Given the description of an element on the screen output the (x, y) to click on. 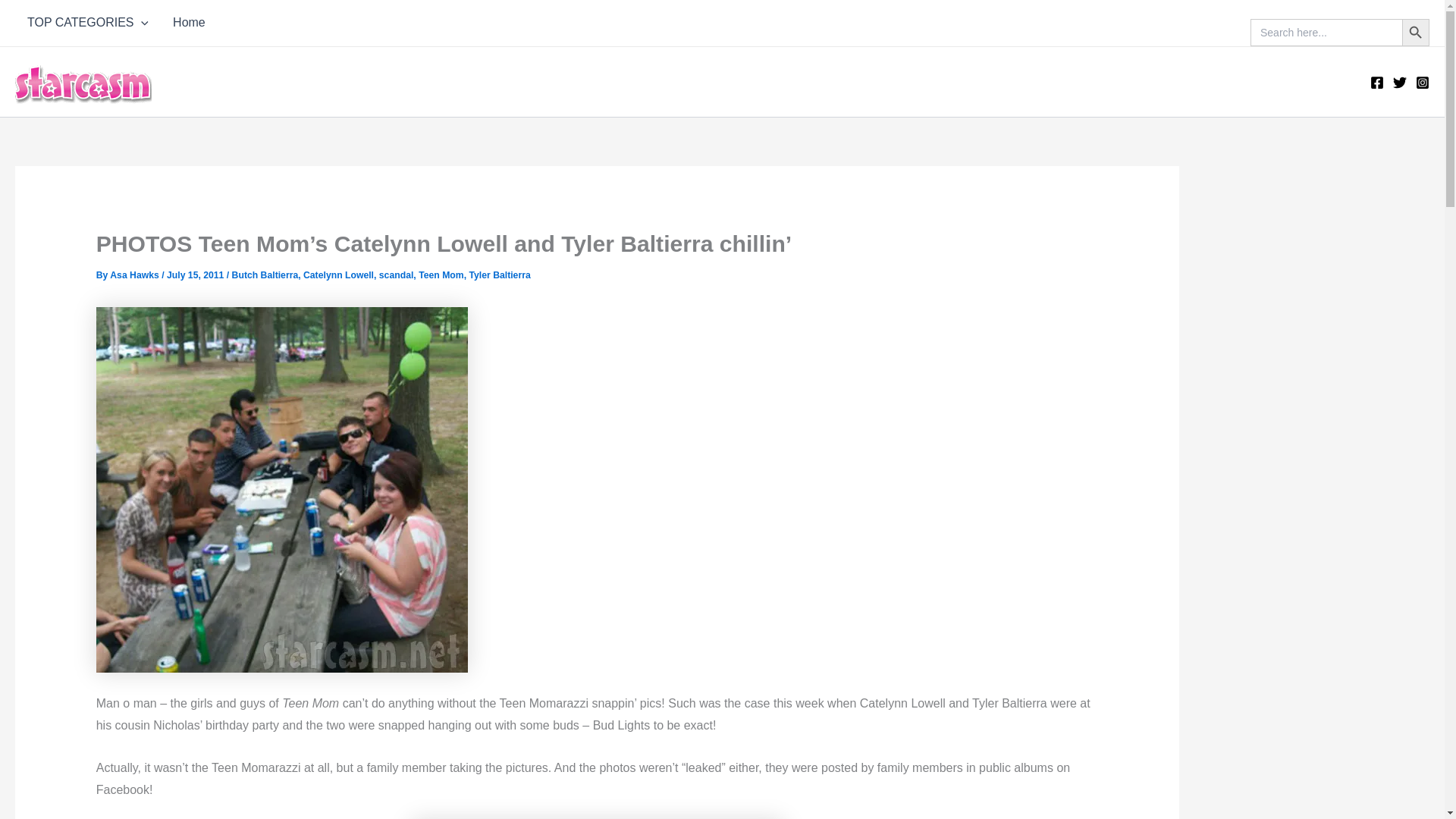
Search Button (1415, 31)
TOP CATEGORIES (87, 22)
Asa Hawks (135, 275)
Butch Baltierra (264, 275)
View all posts by Asa Hawks (135, 275)
Catelynn Lowell (338, 275)
Home (188, 22)
